Given the description of an element on the screen output the (x, y) to click on. 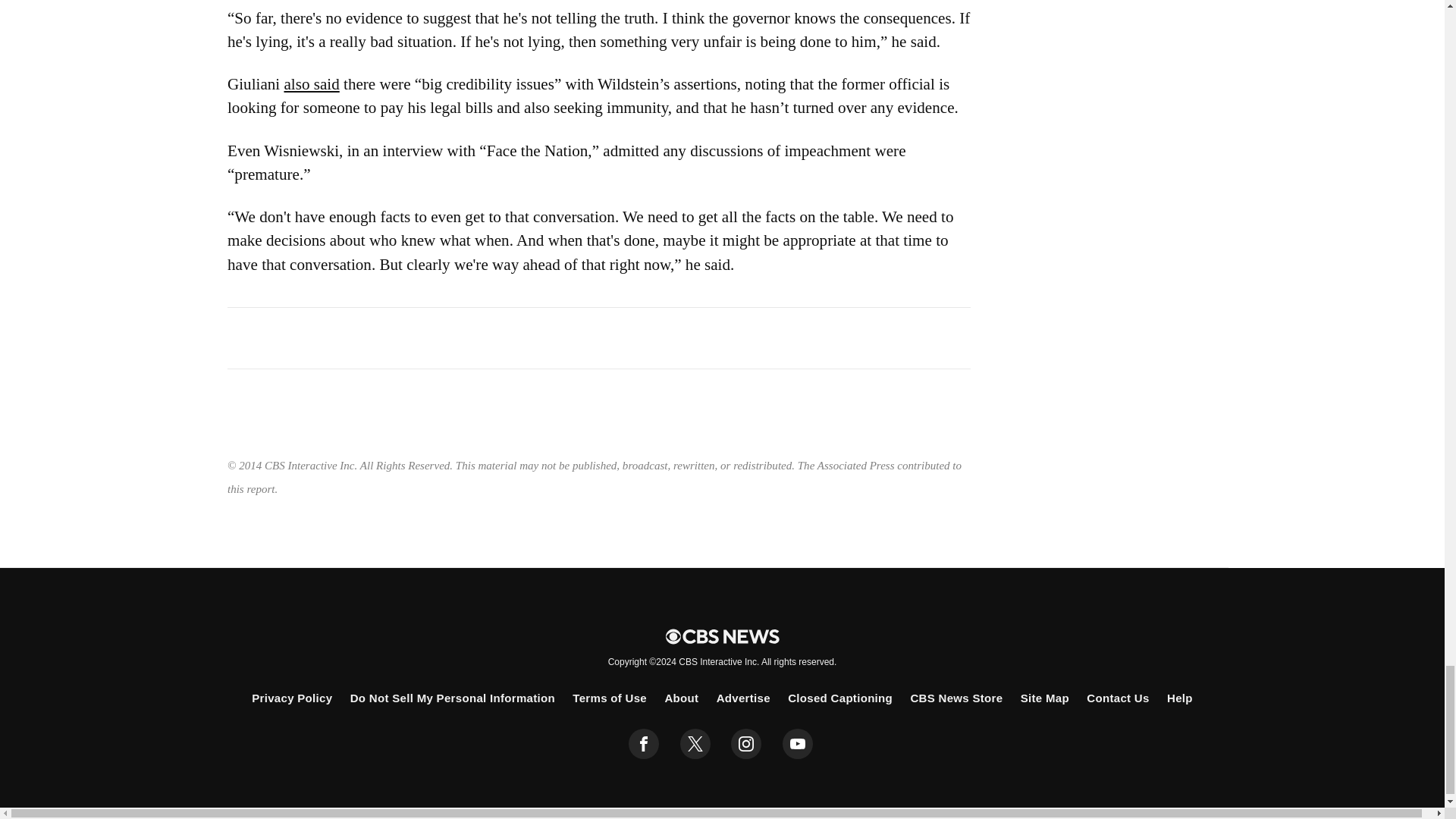
facebook (643, 743)
instagram (745, 743)
youtube (797, 743)
twitter (694, 743)
